Given the description of an element on the screen output the (x, y) to click on. 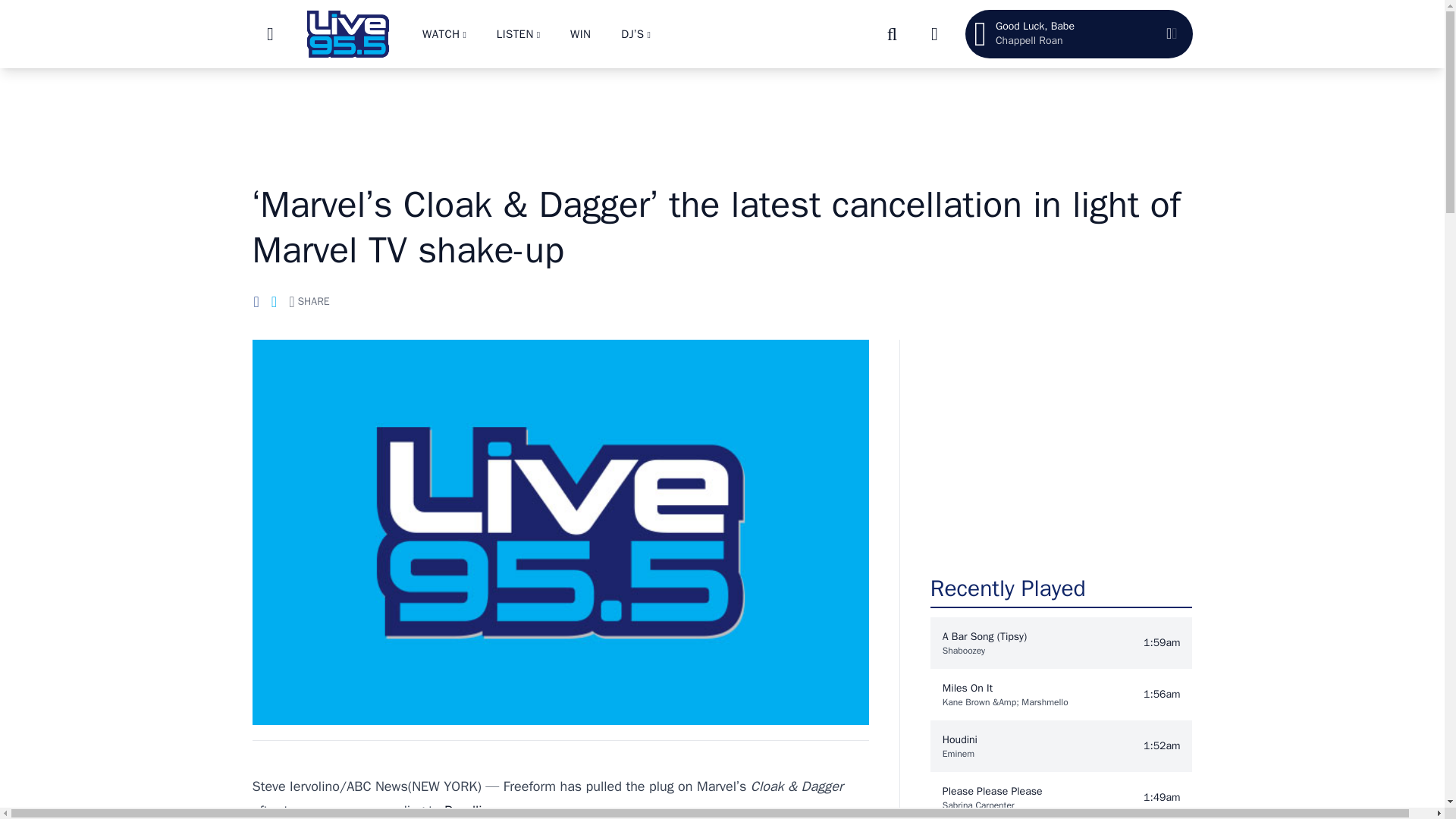
3rd party ad content (1060, 449)
3rd party ad content (721, 117)
